Given the description of an element on the screen output the (x, y) to click on. 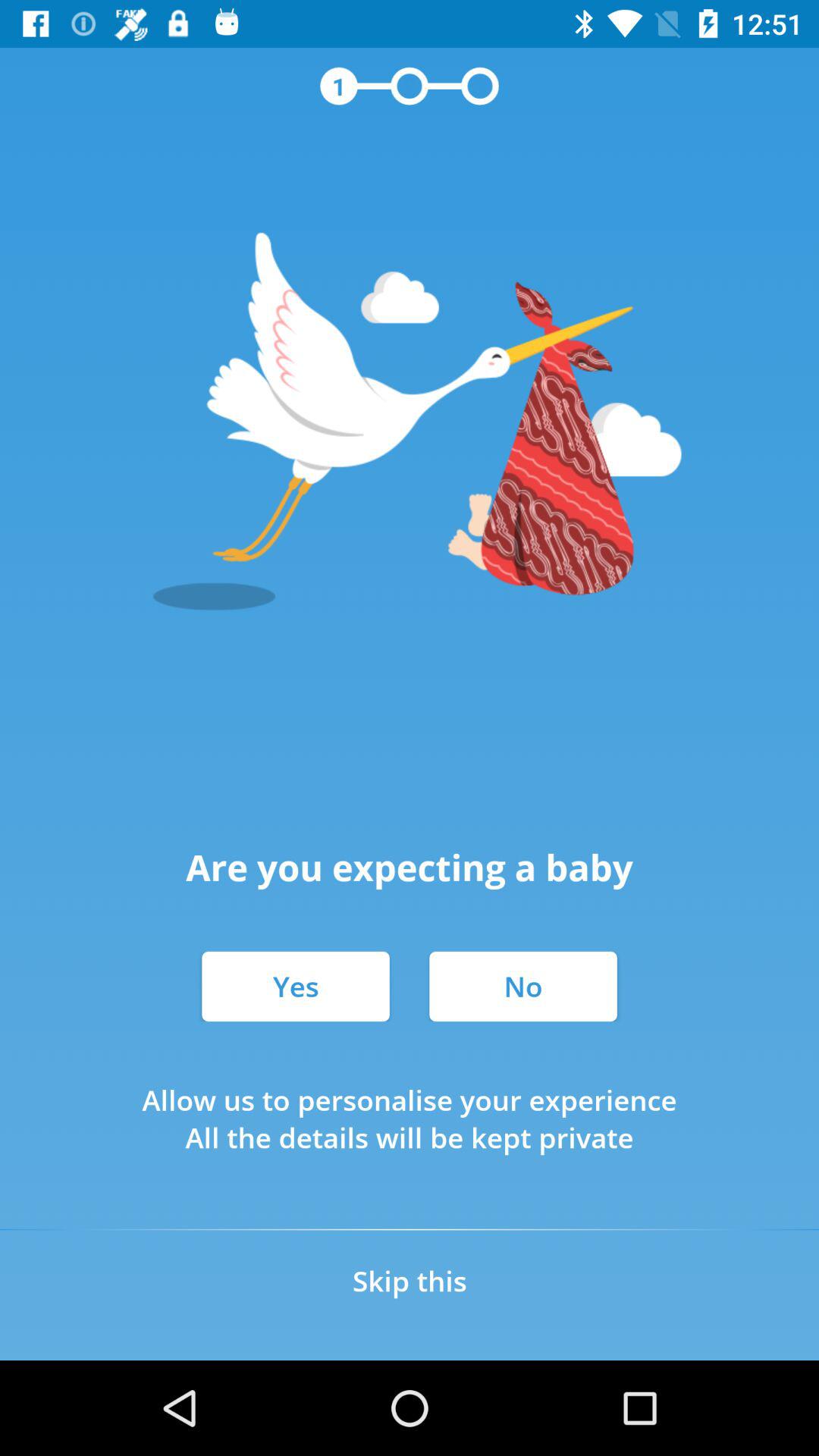
scroll to skip this icon (409, 1280)
